Given the description of an element on the screen output the (x, y) to click on. 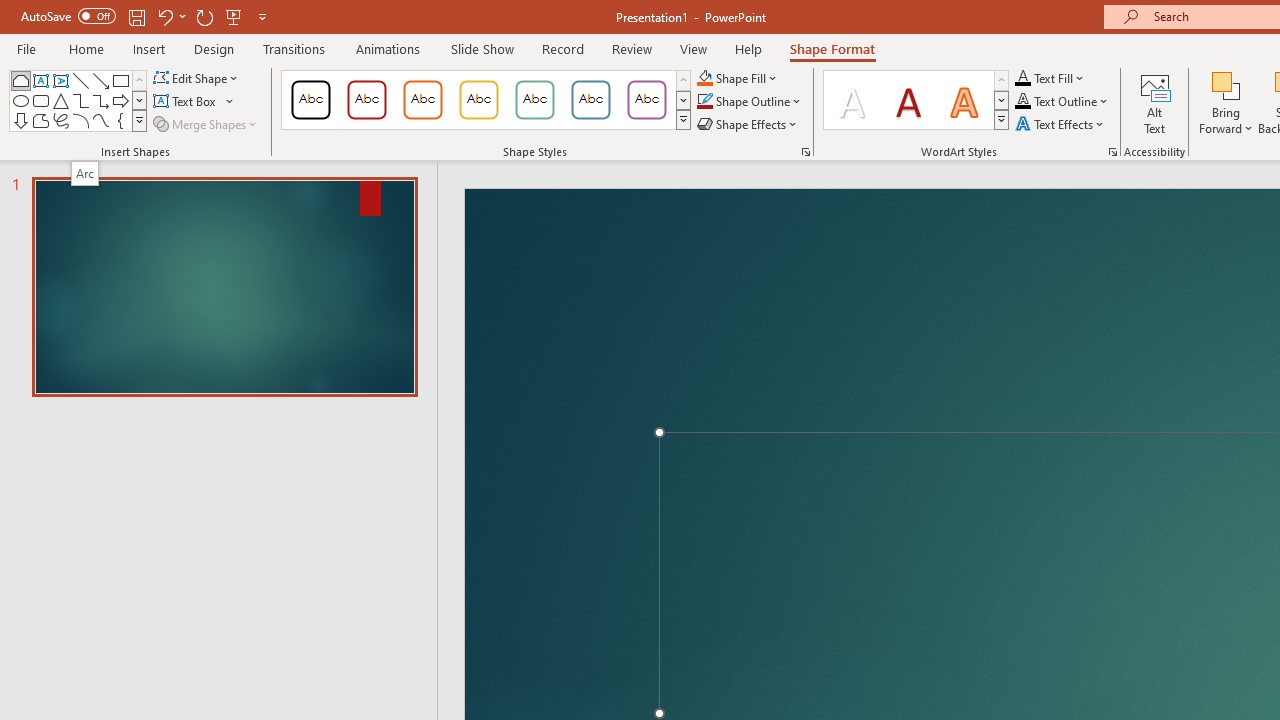
Colored Outline - Blue-Gray, Accent 5 (591, 100)
Colored Outline - Purple, Accent 6 (646, 100)
Text Outline RGB(0, 0, 0) (1023, 101)
Text Effects (1061, 124)
Colored Outline - Green, Accent 4 (534, 100)
